Given the description of an element on the screen output the (x, y) to click on. 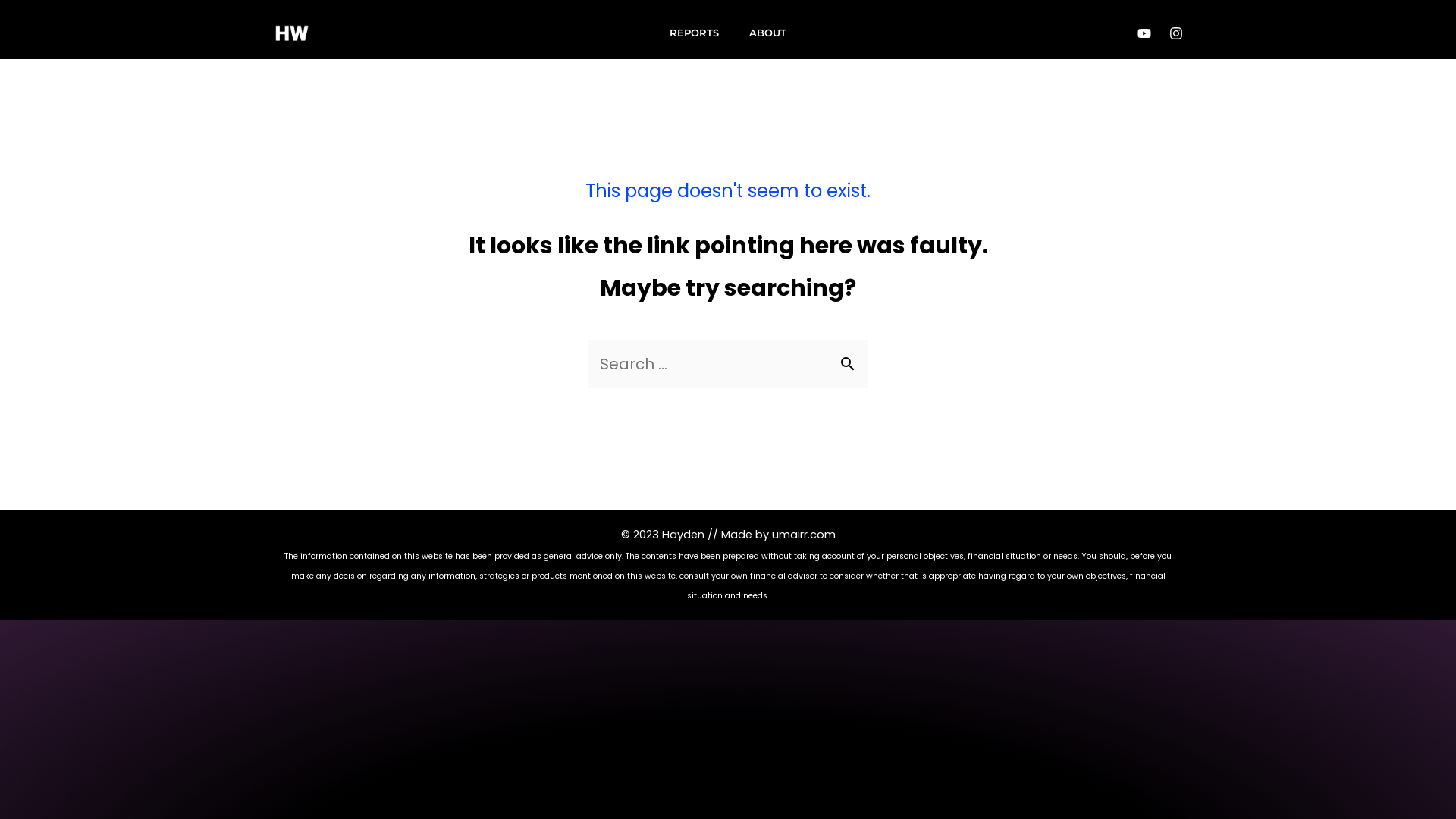
Search Element type: text (851, 354)
REPORTS Element type: text (694, 32)
ABOUT Element type: text (767, 32)
